Given the description of an element on the screen output the (x, y) to click on. 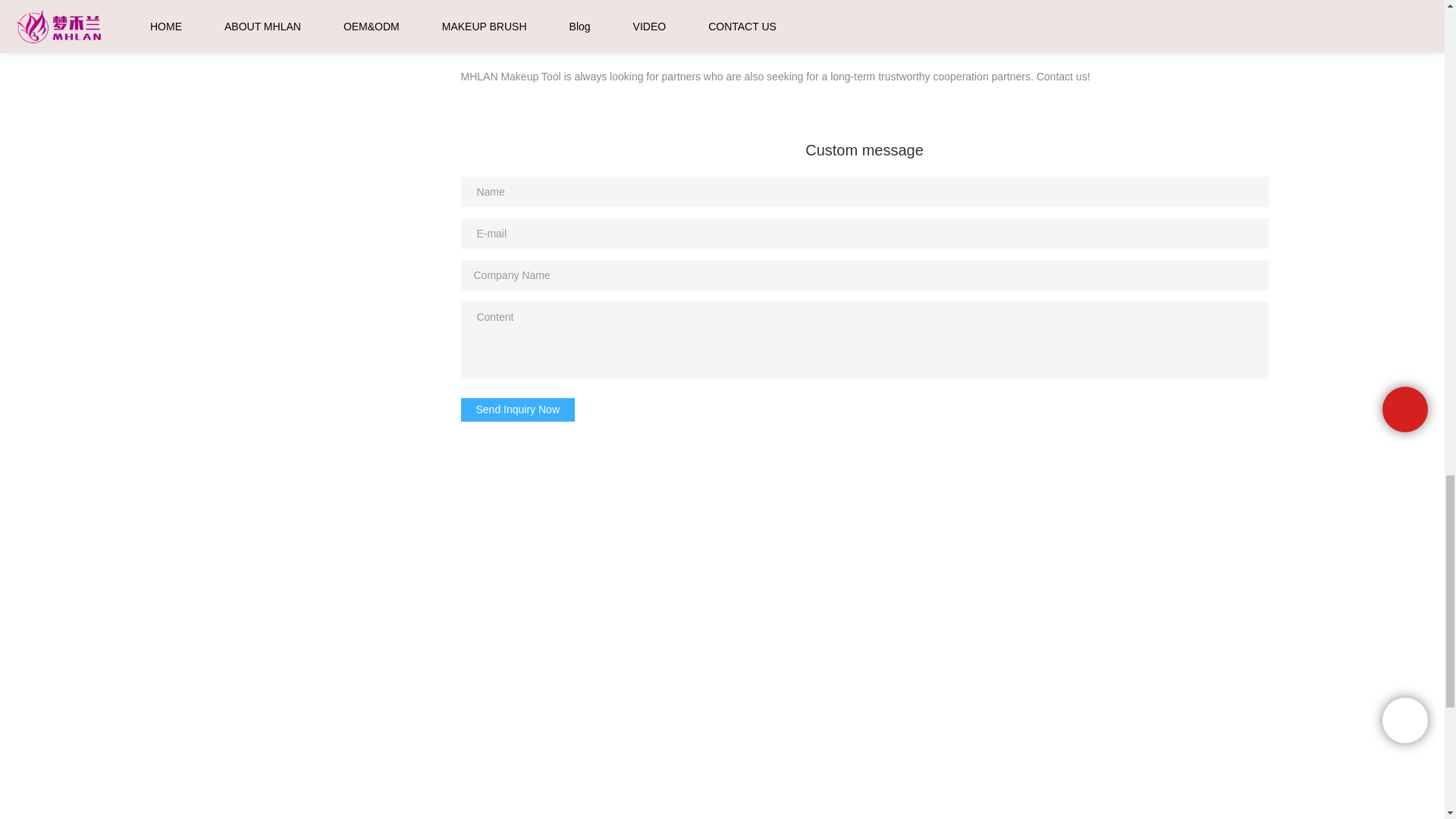
Send Inquiry Now (518, 409)
